Given the description of an element on the screen output the (x, y) to click on. 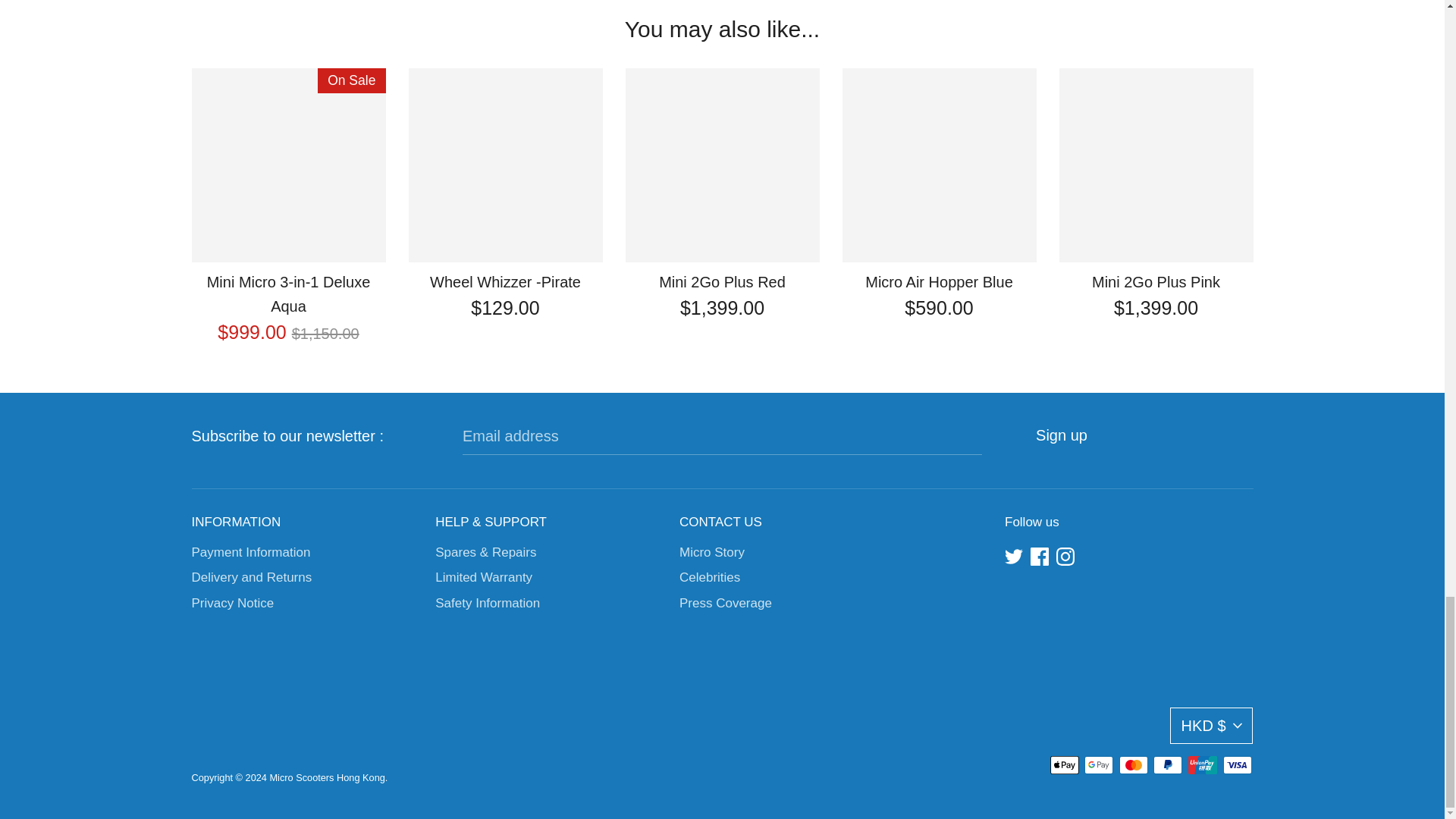
Apple Pay (1063, 764)
